Given the description of an element on the screen output the (x, y) to click on. 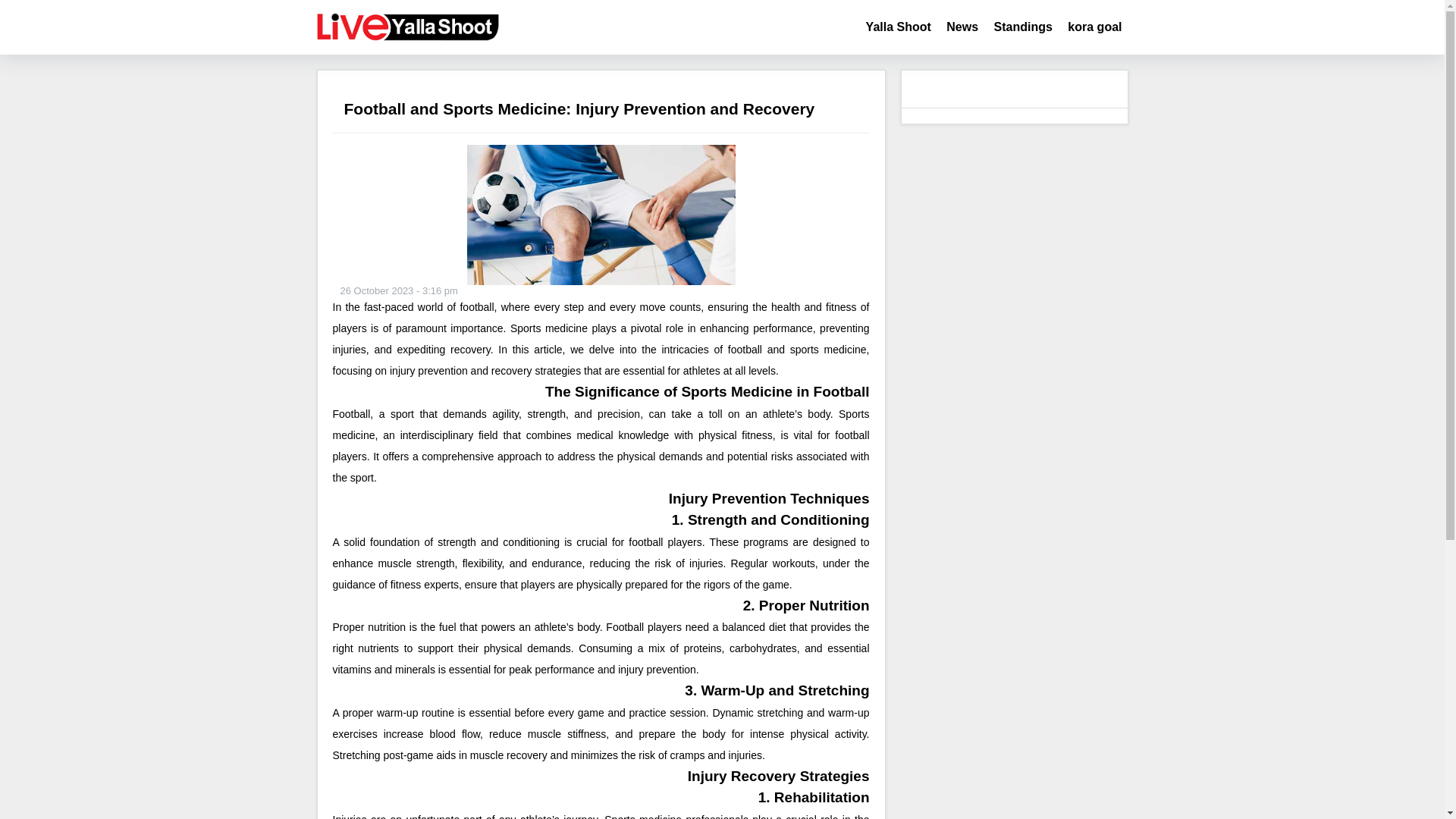
kora goal (1093, 26)
Standings (1023, 26)
News (962, 26)
Yalla Shoot (898, 26)
